Given the description of an element on the screen output the (x, y) to click on. 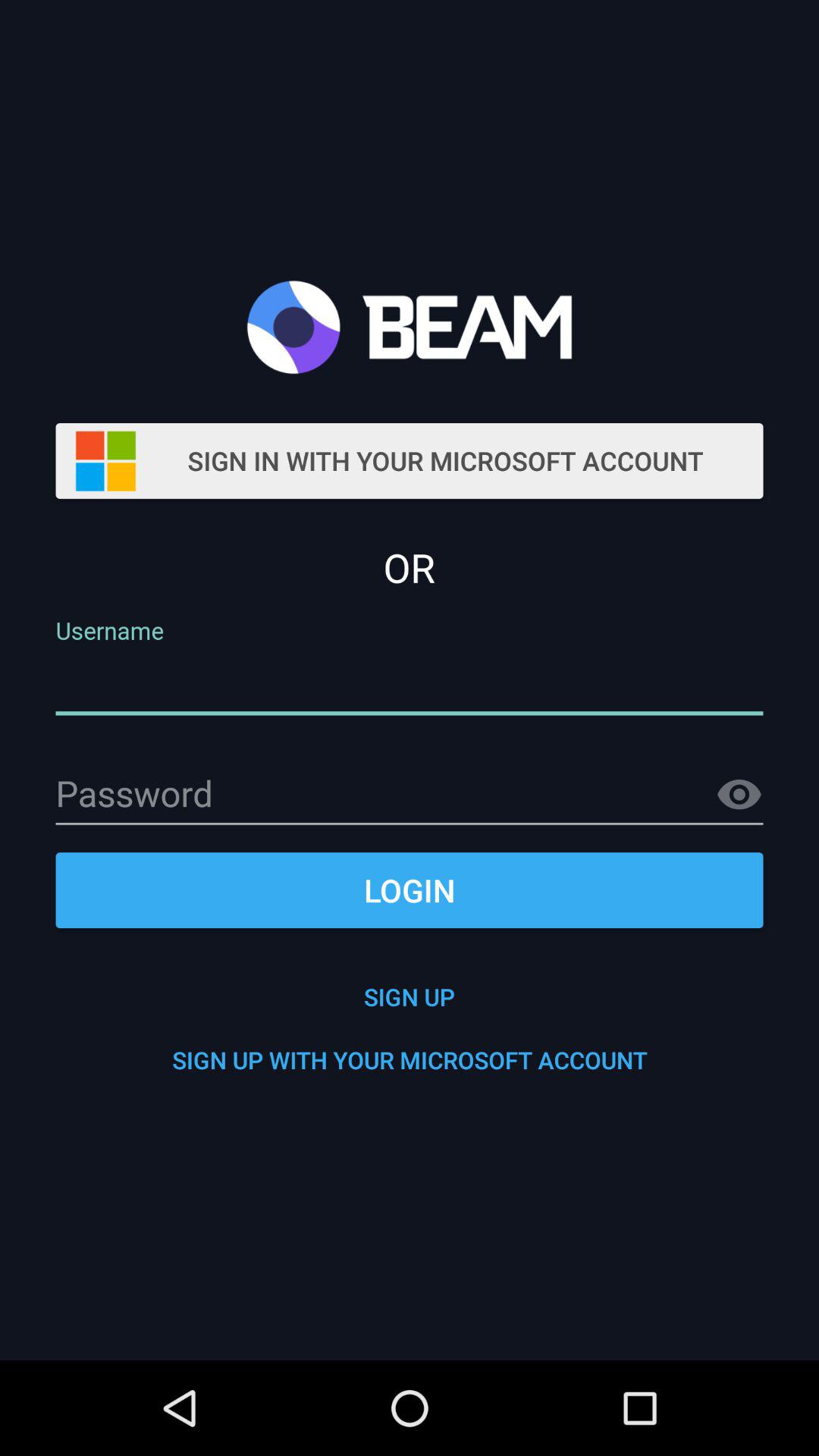
turn on icon on the right (739, 795)
